Given the description of an element on the screen output the (x, y) to click on. 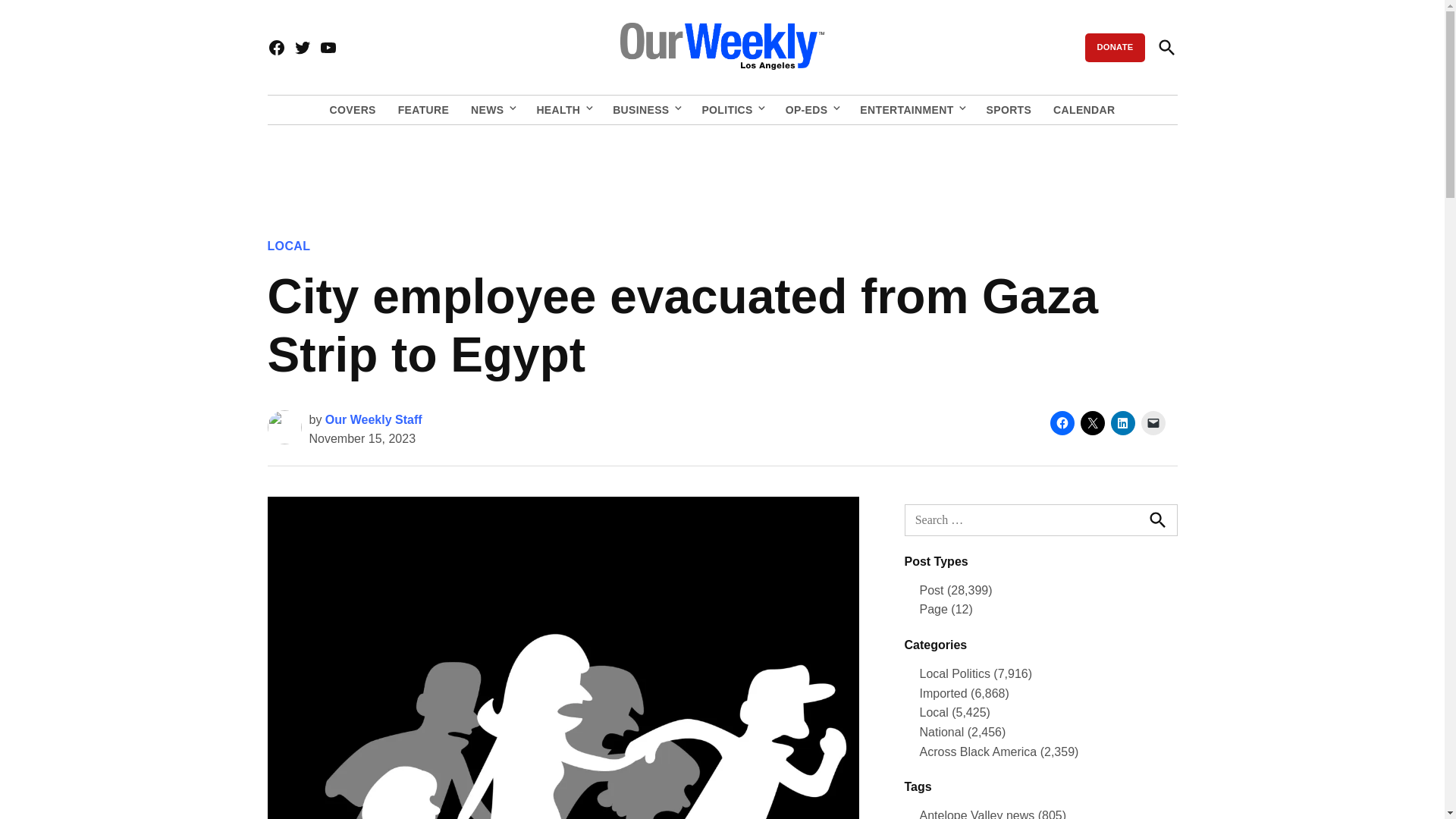
Click to share on LinkedIn (1121, 422)
Click to share on X (1091, 422)
Click to share on Facebook (1061, 422)
3rd party ad content (721, 171)
Click to email a link to a friend (1152, 422)
